Given the description of an element on the screen output the (x, y) to click on. 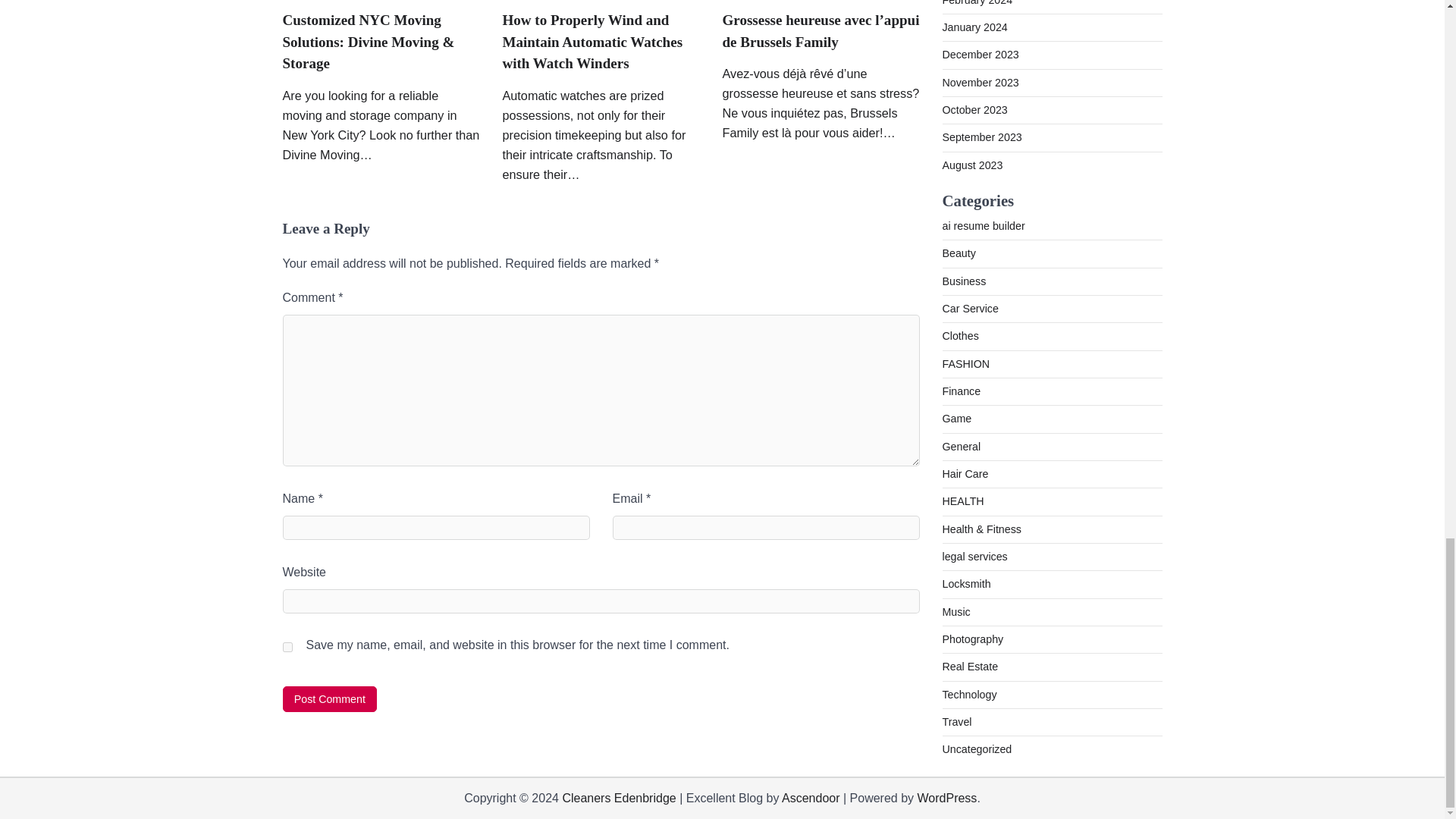
Post Comment (329, 698)
yes (287, 646)
Post Comment (329, 698)
